Given the description of an element on the screen output the (x, y) to click on. 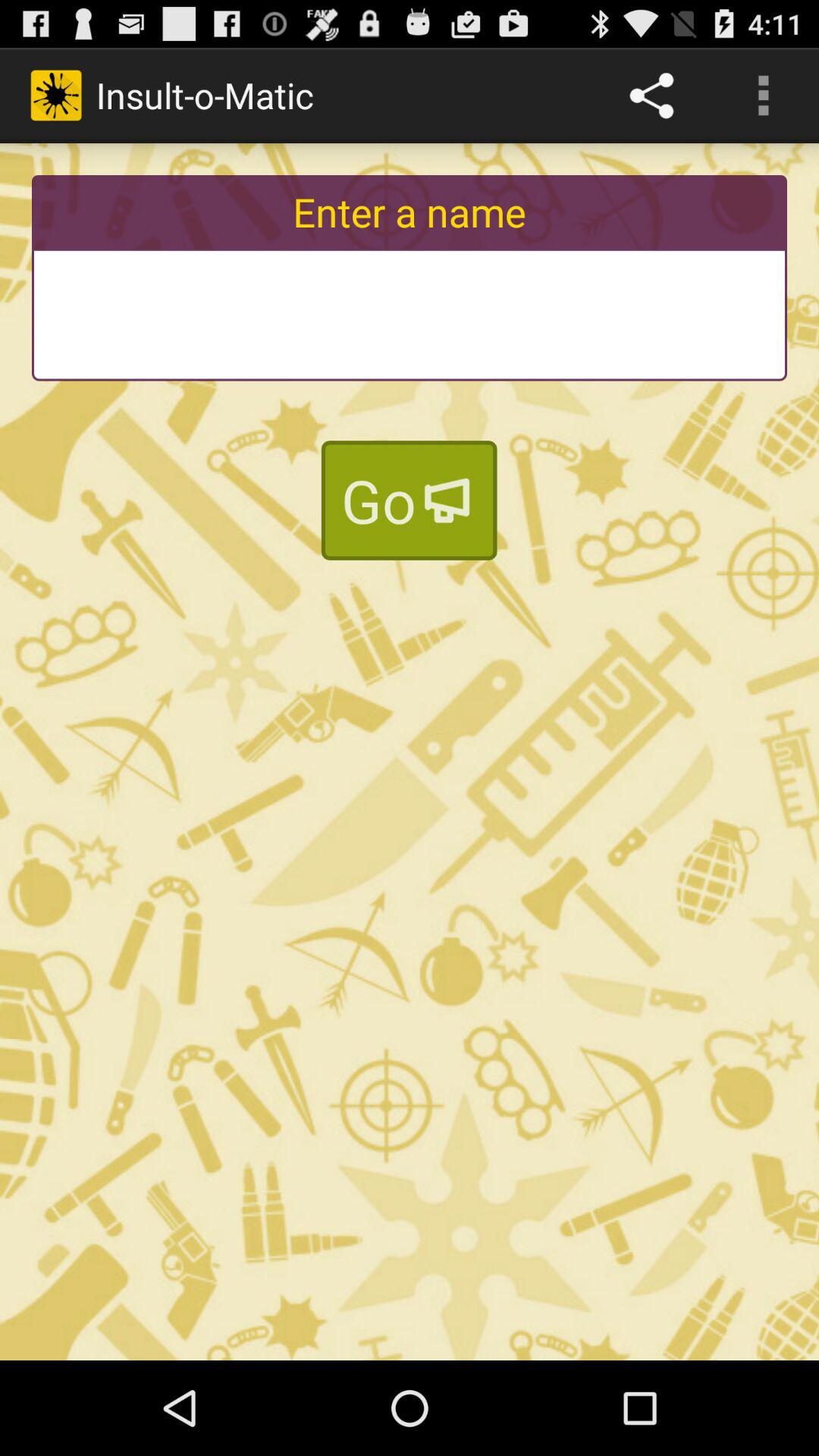
diskgrasland (409, 314)
